Given the description of an element on the screen output the (x, y) to click on. 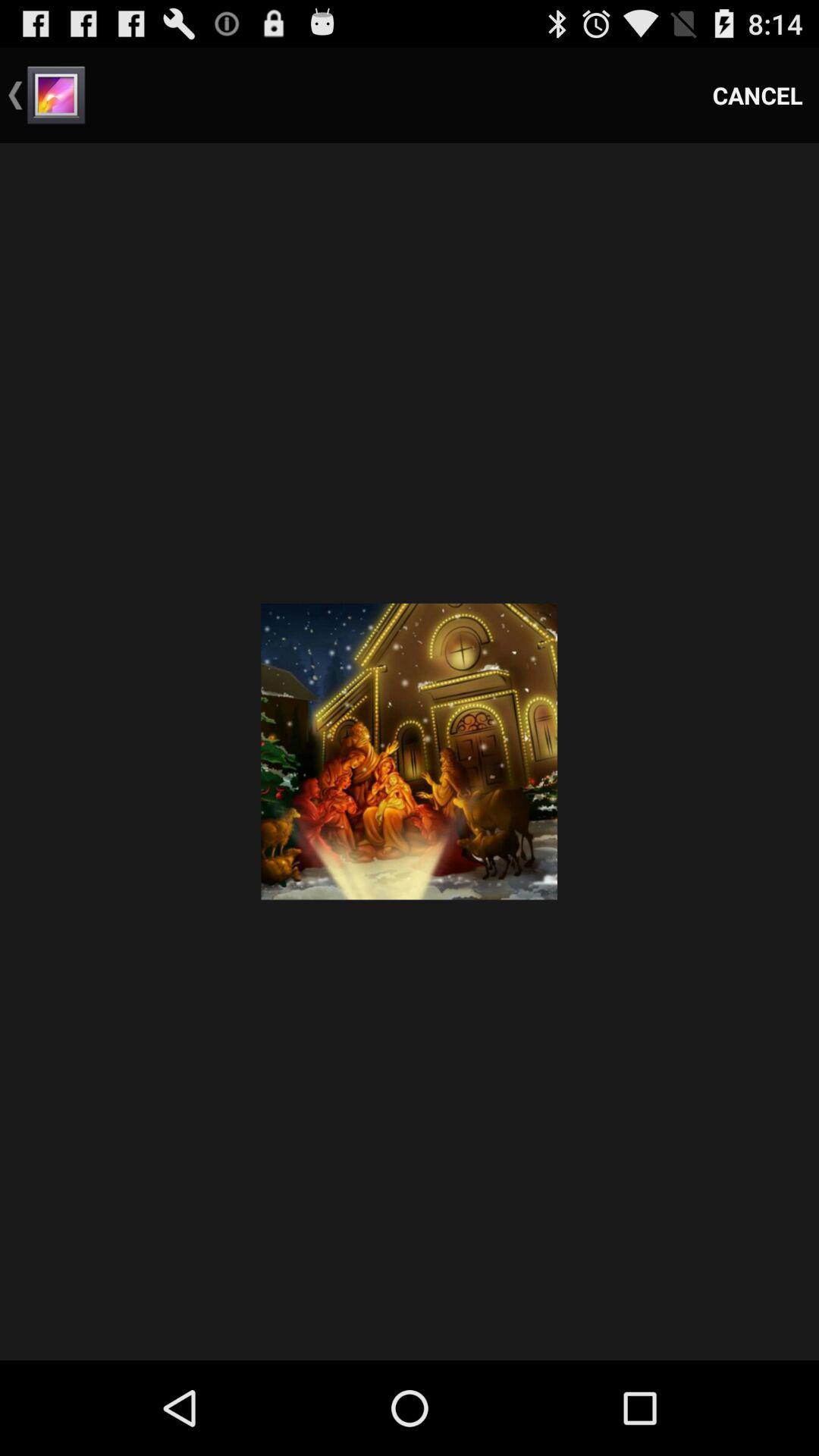
flip to cancel item (757, 95)
